Given the description of an element on the screen output the (x, y) to click on. 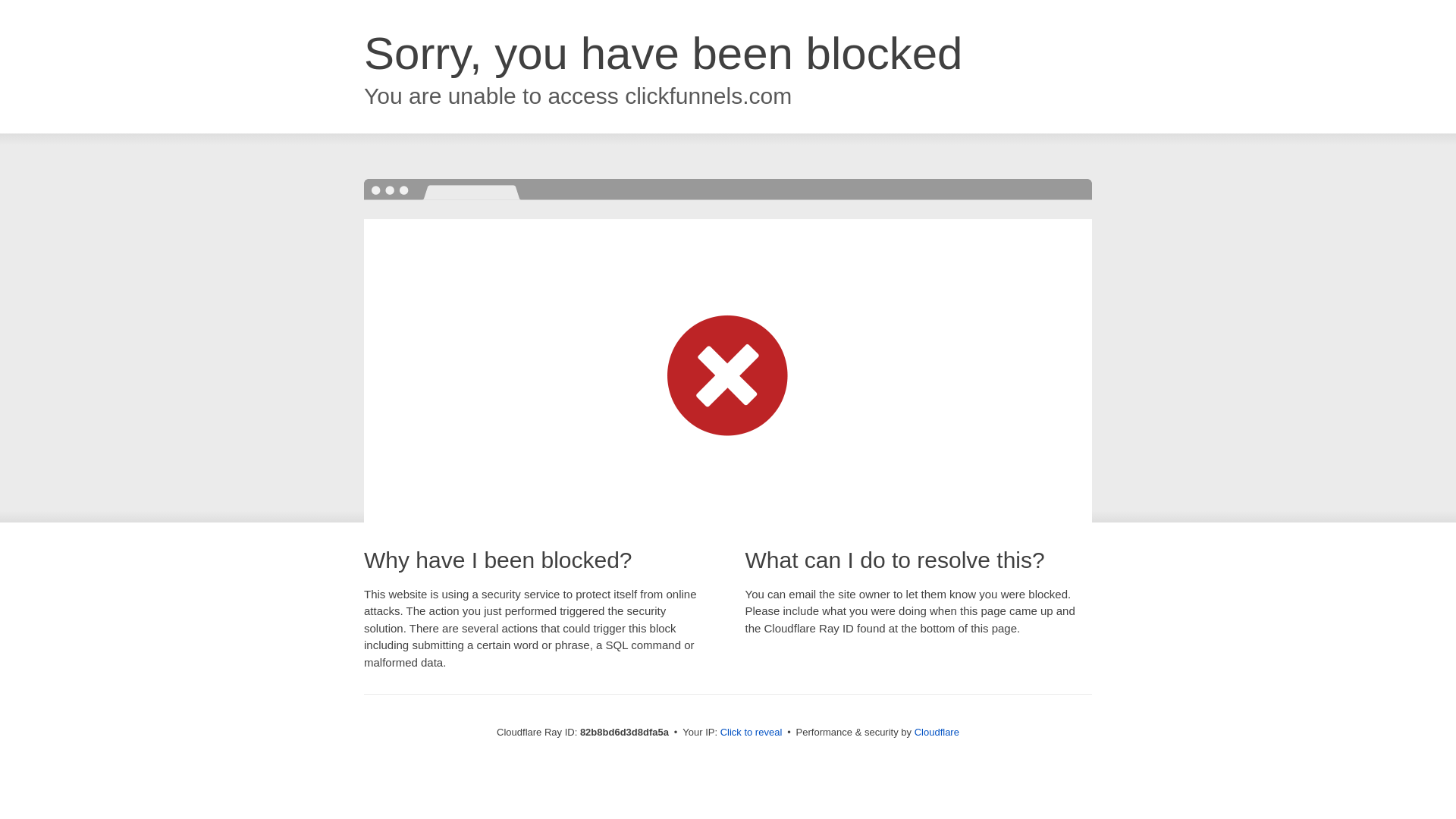
Cloudflare Element type: text (936, 731)
Click to reveal Element type: text (751, 732)
